Given the description of an element on the screen output the (x, y) to click on. 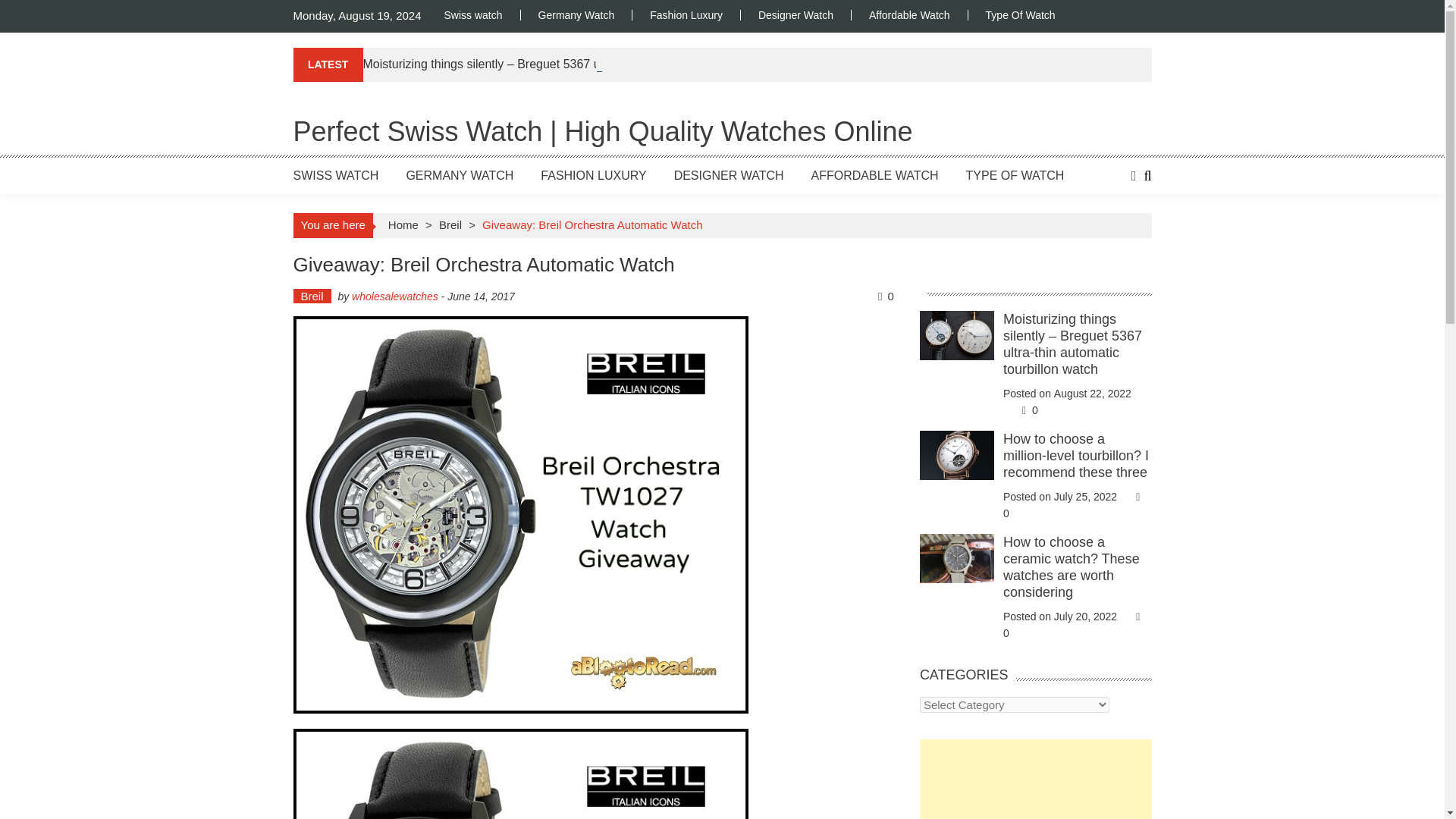
Giveaway: Breil Orchestra Automatic Watch Giveaways  (520, 773)
Swiss watch (481, 14)
Germany Watch (575, 14)
Advertisement (1035, 779)
